Given the description of an element on the screen output the (x, y) to click on. 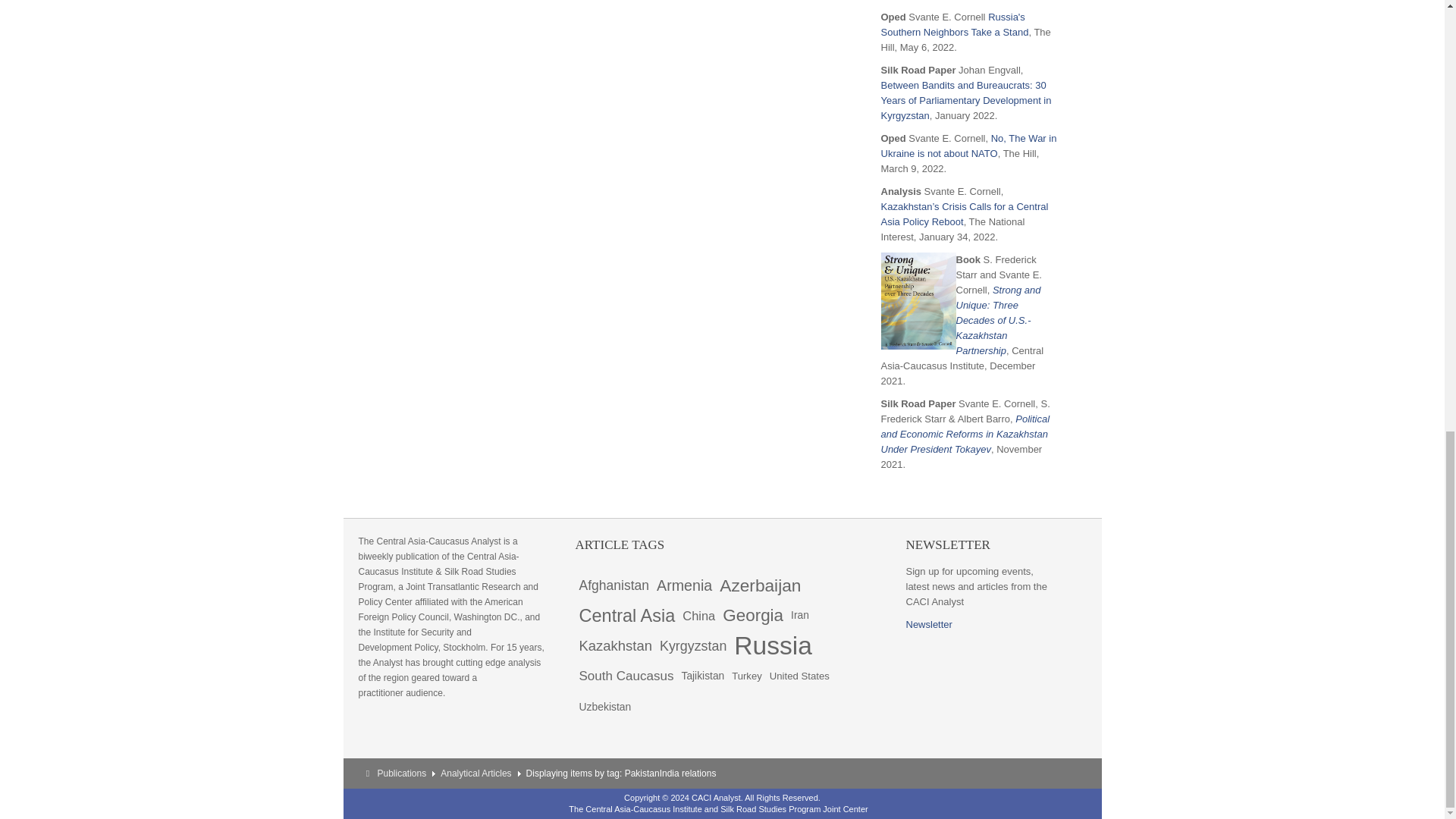
184 items tagged with Central Asia (626, 615)
102 items tagged with China (698, 615)
No, The War in Ukraine is not about NATO (968, 145)
114 items tagged with Afghanistan (613, 585)
72 items tagged with Uzbekistan (604, 706)
175 items tagged with Azerbaijan (760, 585)
Russia's Southern Neighbors Take a Stand (954, 24)
64 items tagged with United States (798, 675)
Azerbaijan (760, 585)
139 items tagged with Armenia (684, 585)
118 items tagged with Kyrgyzstan (693, 645)
303 items tagged with Russia (772, 645)
125 items tagged with Kazakhstan (615, 645)
70 items tagged with Tajikistan (702, 675)
